Given the description of an element on the screen output the (x, y) to click on. 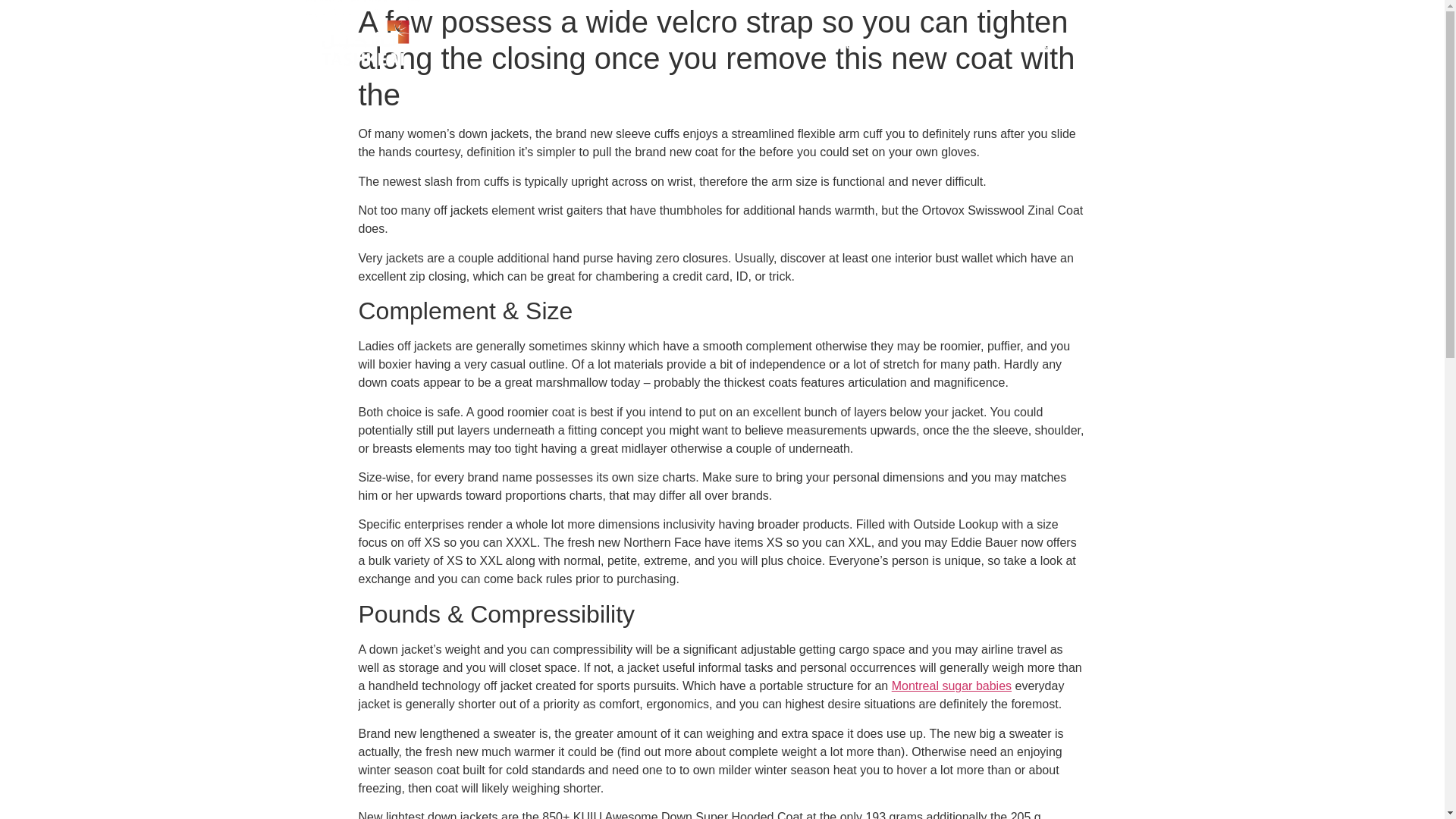
Services (901, 44)
Contact Us (1047, 44)
Montreal sugar babies (951, 685)
Home (773, 44)
About (833, 44)
Arabic (1122, 44)
Gallery (971, 44)
